Given the description of an element on the screen output the (x, y) to click on. 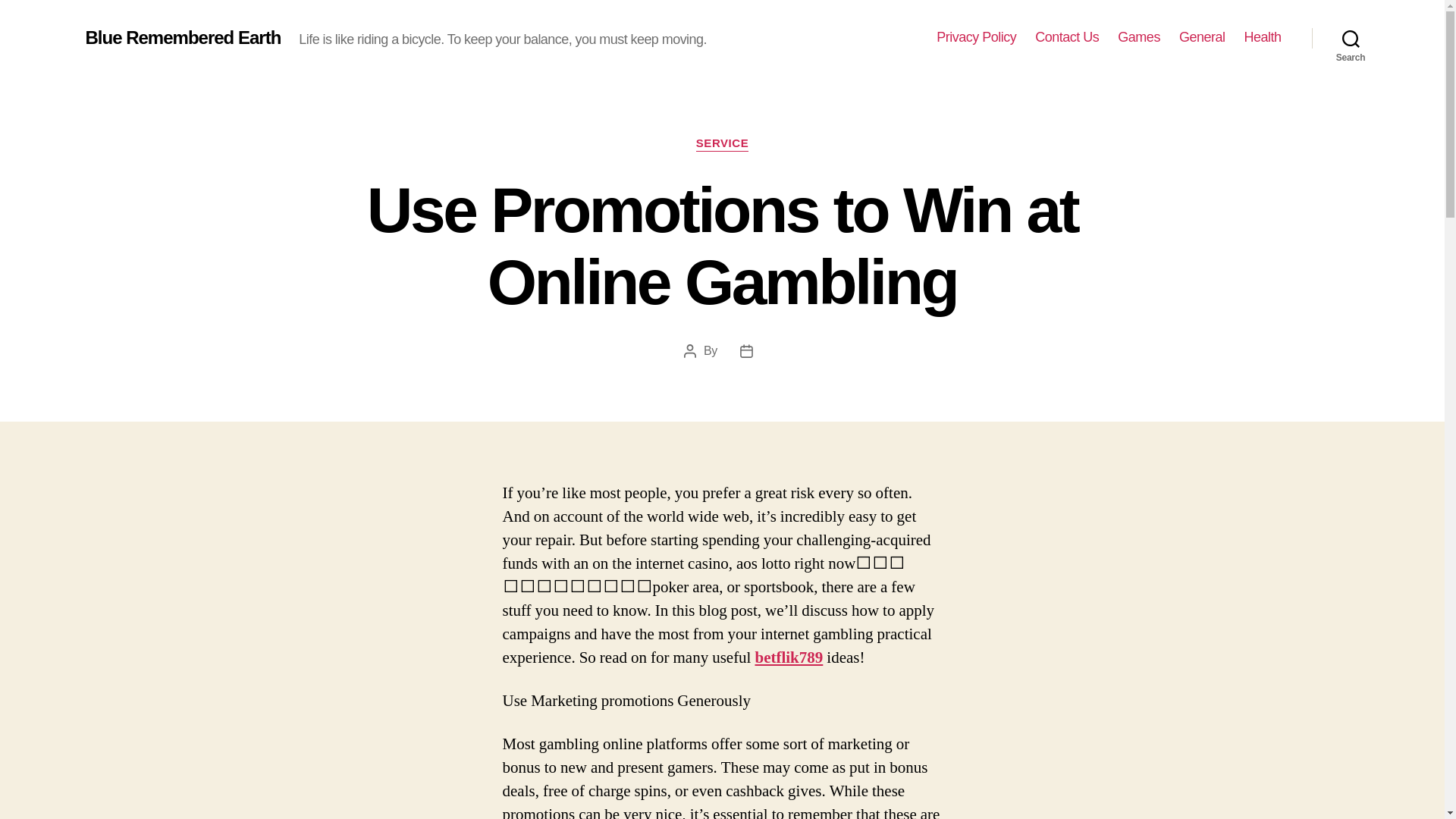
Search (1350, 37)
Contact Us (1067, 37)
Blue Remembered Earth (182, 37)
betflik789 (788, 657)
Health (1262, 37)
Privacy Policy (976, 37)
Games (1139, 37)
SERVICE (721, 143)
General (1202, 37)
